Given the description of an element on the screen output the (x, y) to click on. 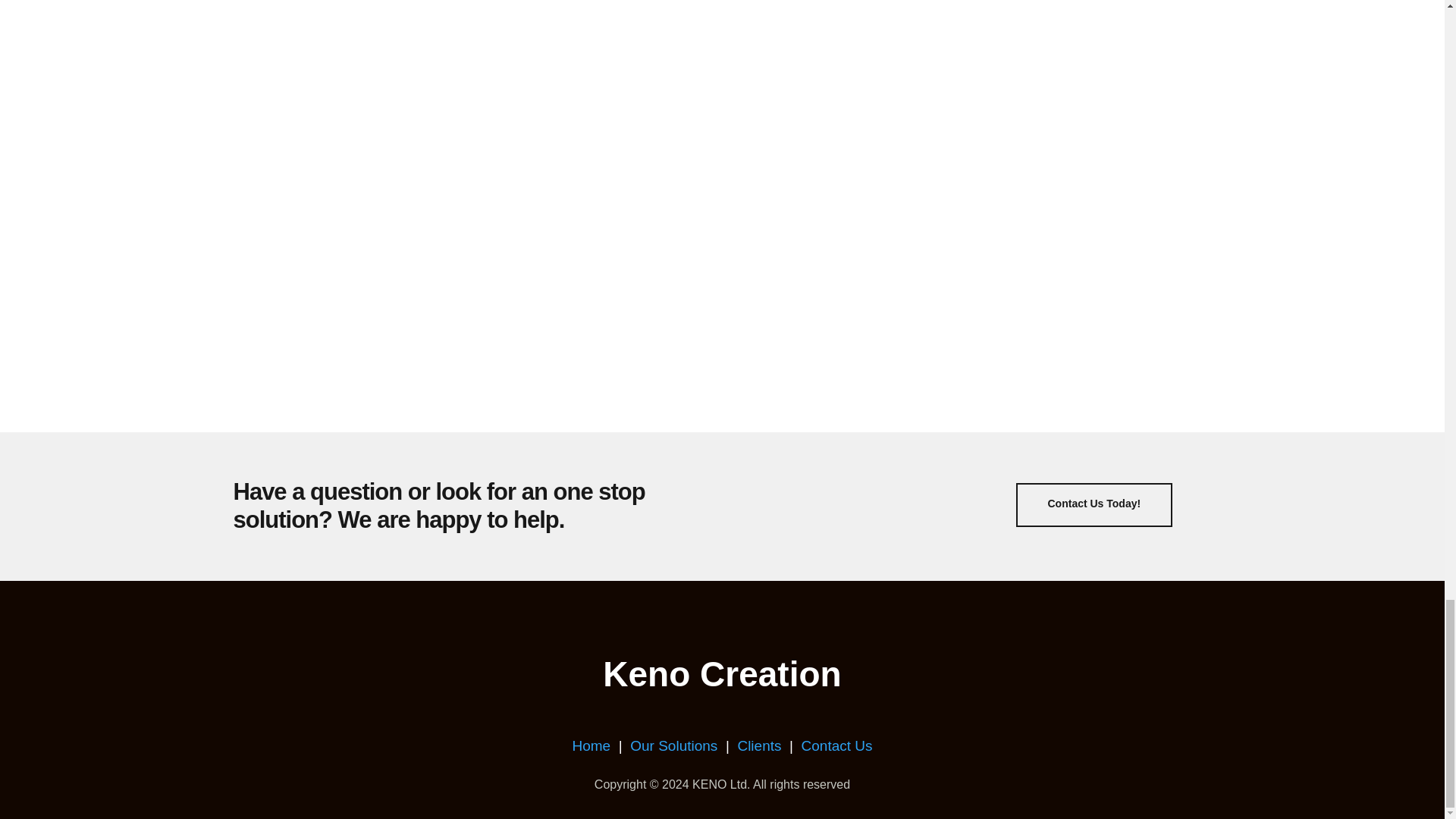
Contact Us (837, 745)
Our Solutions (673, 745)
Home (591, 745)
Clients  (760, 745)
Contact Us Today! (1094, 505)
